Given the description of an element on the screen output the (x, y) to click on. 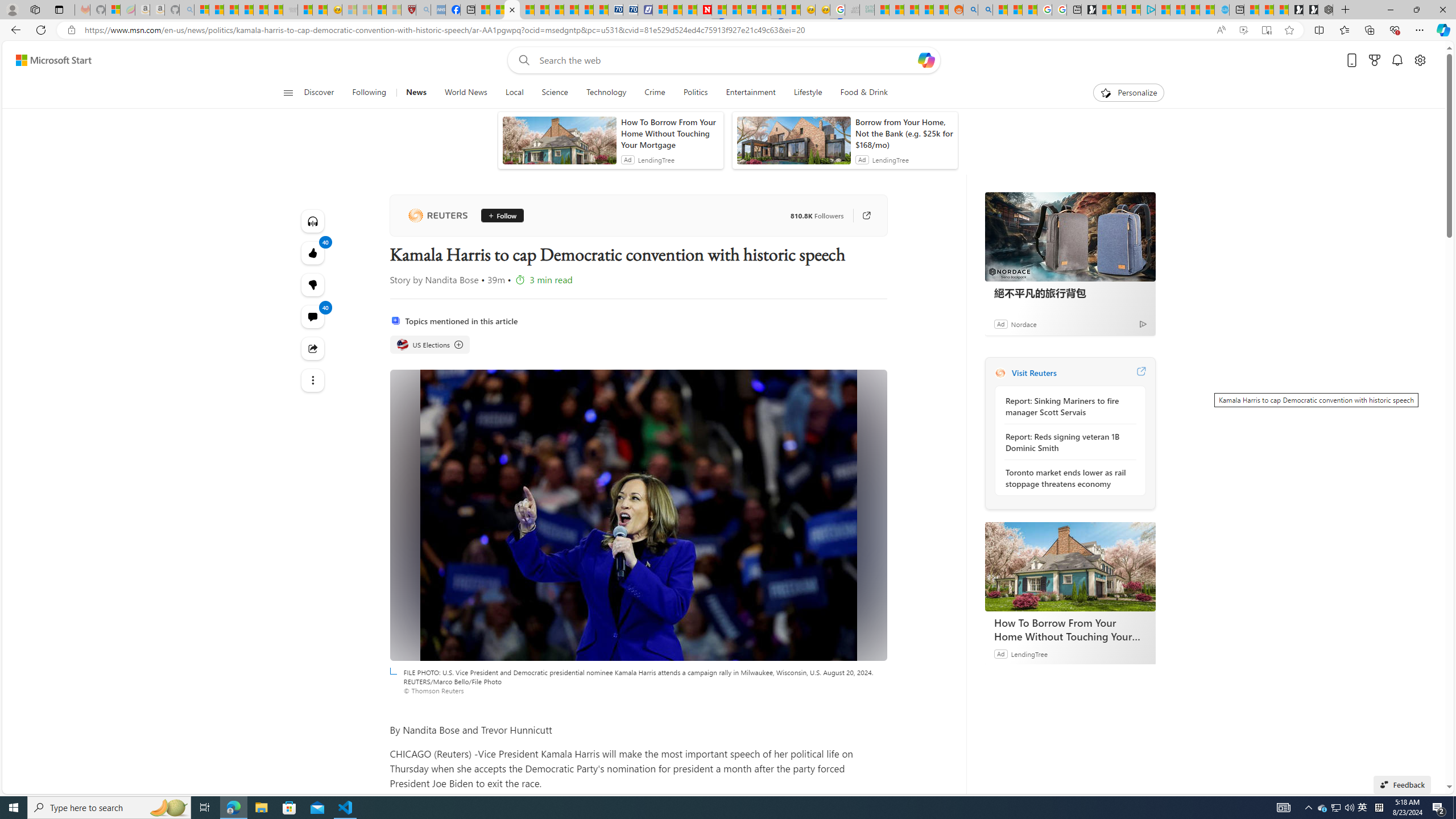
Toronto market ends lower as rail stoppage threatens economy (1066, 477)
Share this story (312, 348)
Politics (694, 92)
Science - MSN (378, 9)
